Given the description of an element on the screen output the (x, y) to click on. 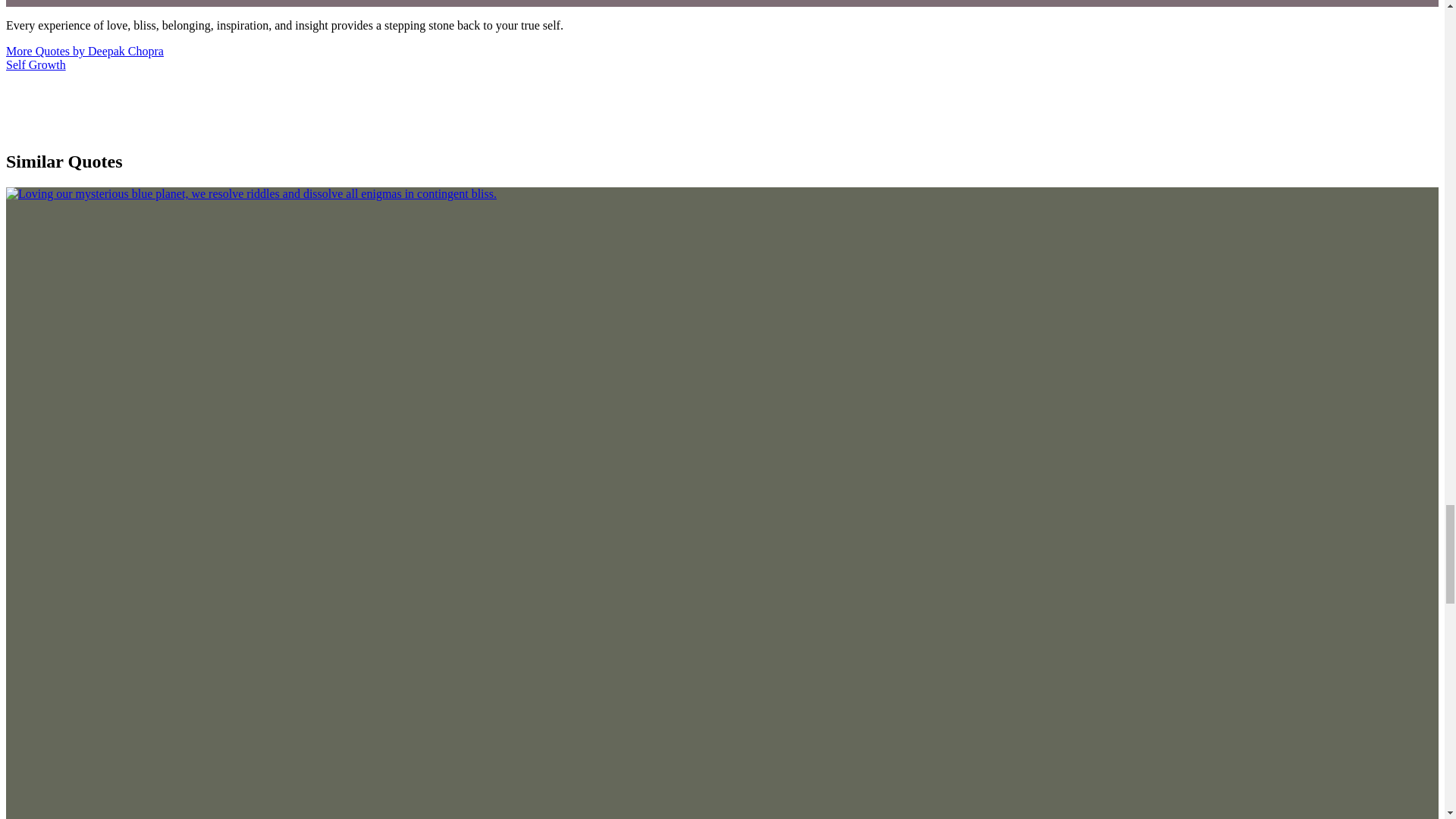
see quote (250, 193)
